Given the description of an element on the screen output the (x, y) to click on. 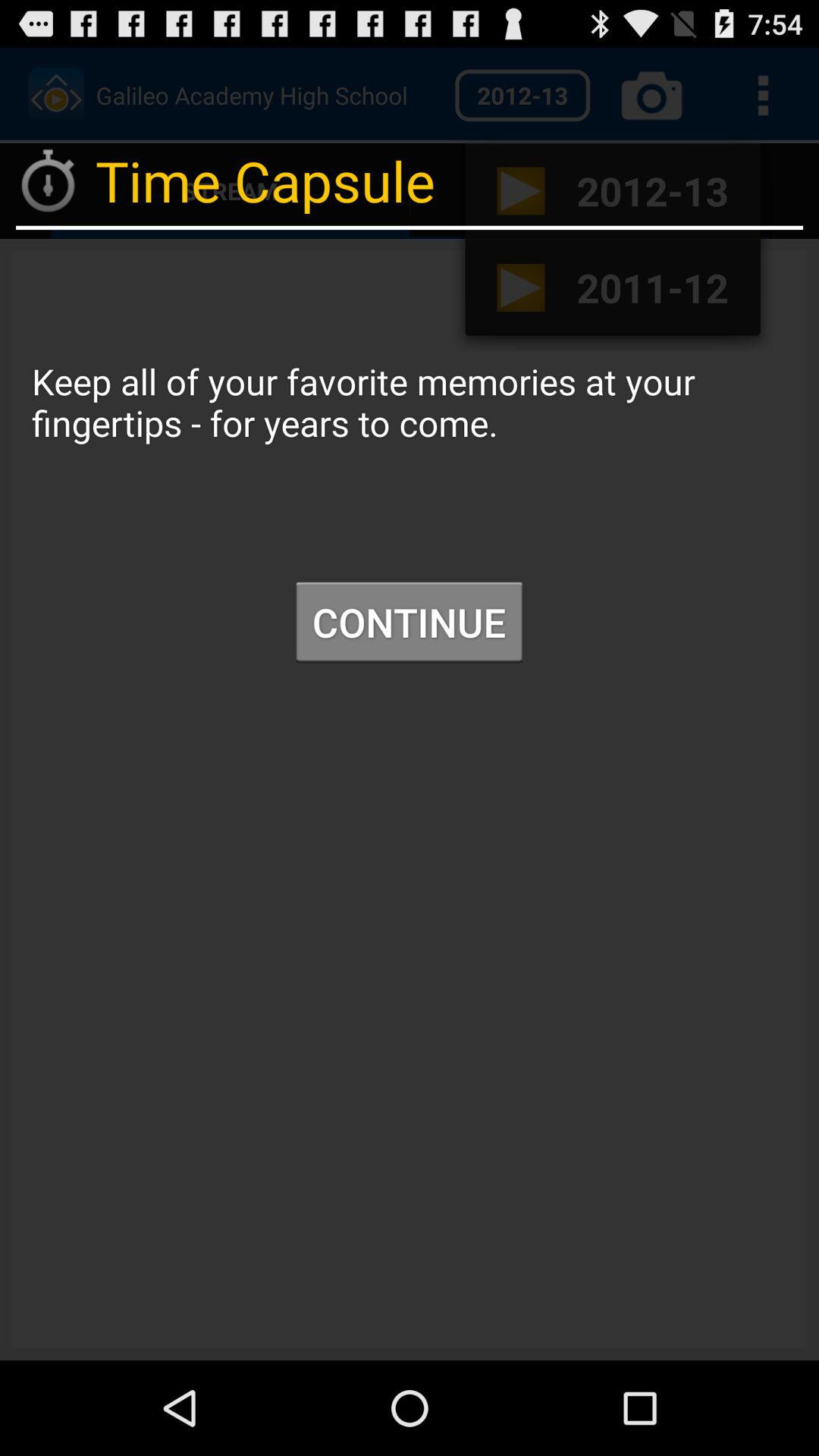
select the continue button (409, 621)
